Given the description of an element on the screen output the (x, y) to click on. 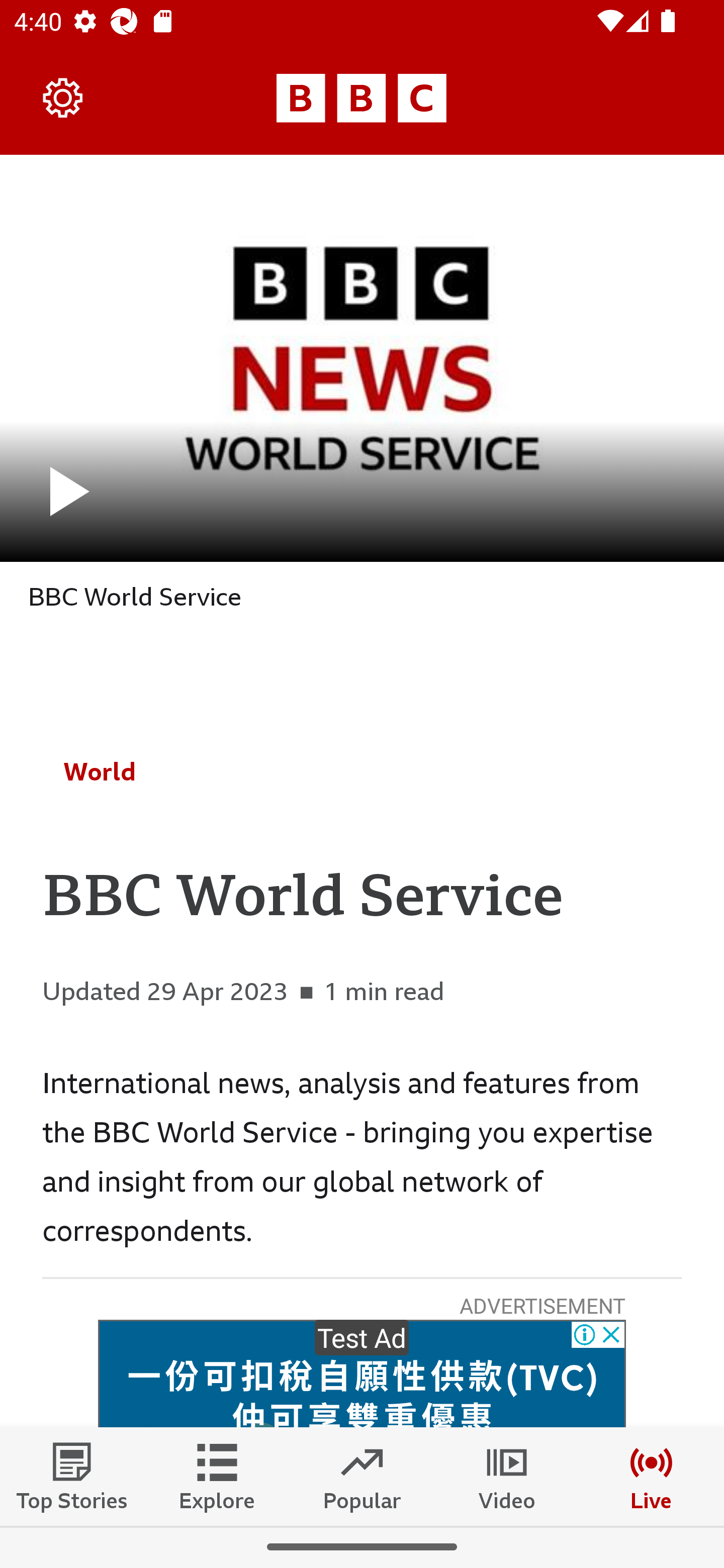
Settings (63, 97)
play fullscreen (362, 358)
World (99, 771)
Fidelity javascript:window.open(window (361, 1373)
Top Stories (72, 1475)
Explore (216, 1475)
Popular (361, 1475)
Video (506, 1475)
